Given the description of an element on the screen output the (x, y) to click on. 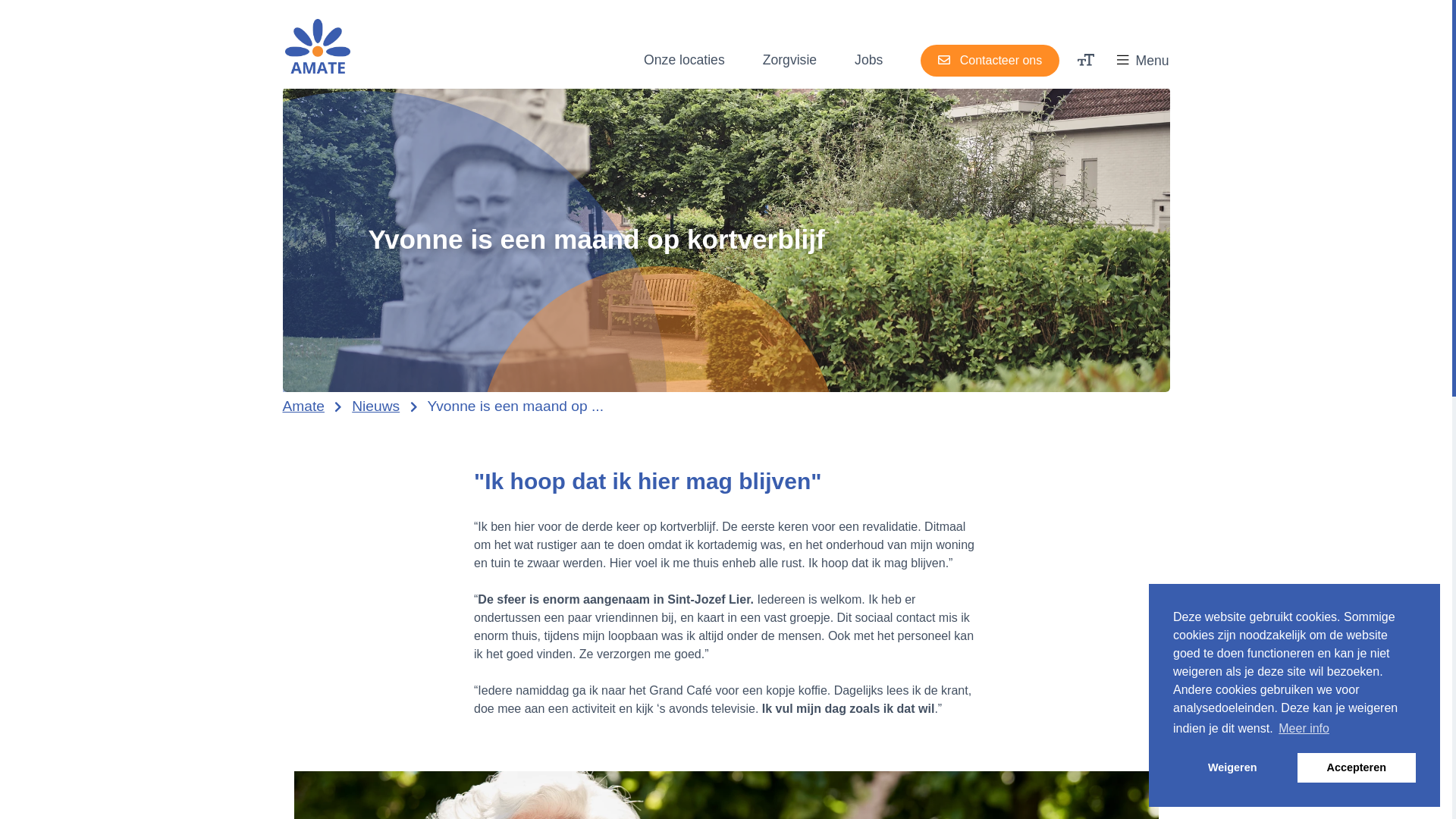
Menu Element type: text (1142, 60)
Jobs Element type: text (868, 60)
Weigeren Element type: text (1232, 767)
Nieuws Element type: text (375, 406)
Amate Element type: text (302, 406)
Accepteren Element type: text (1356, 767)
Onze locaties Element type: text (683, 60)
Meer info Element type: text (1303, 728)
Contacteer ons Element type: text (989, 60)
Zorgvisie Element type: text (789, 60)
